Given the description of an element on the screen output the (x, y) to click on. 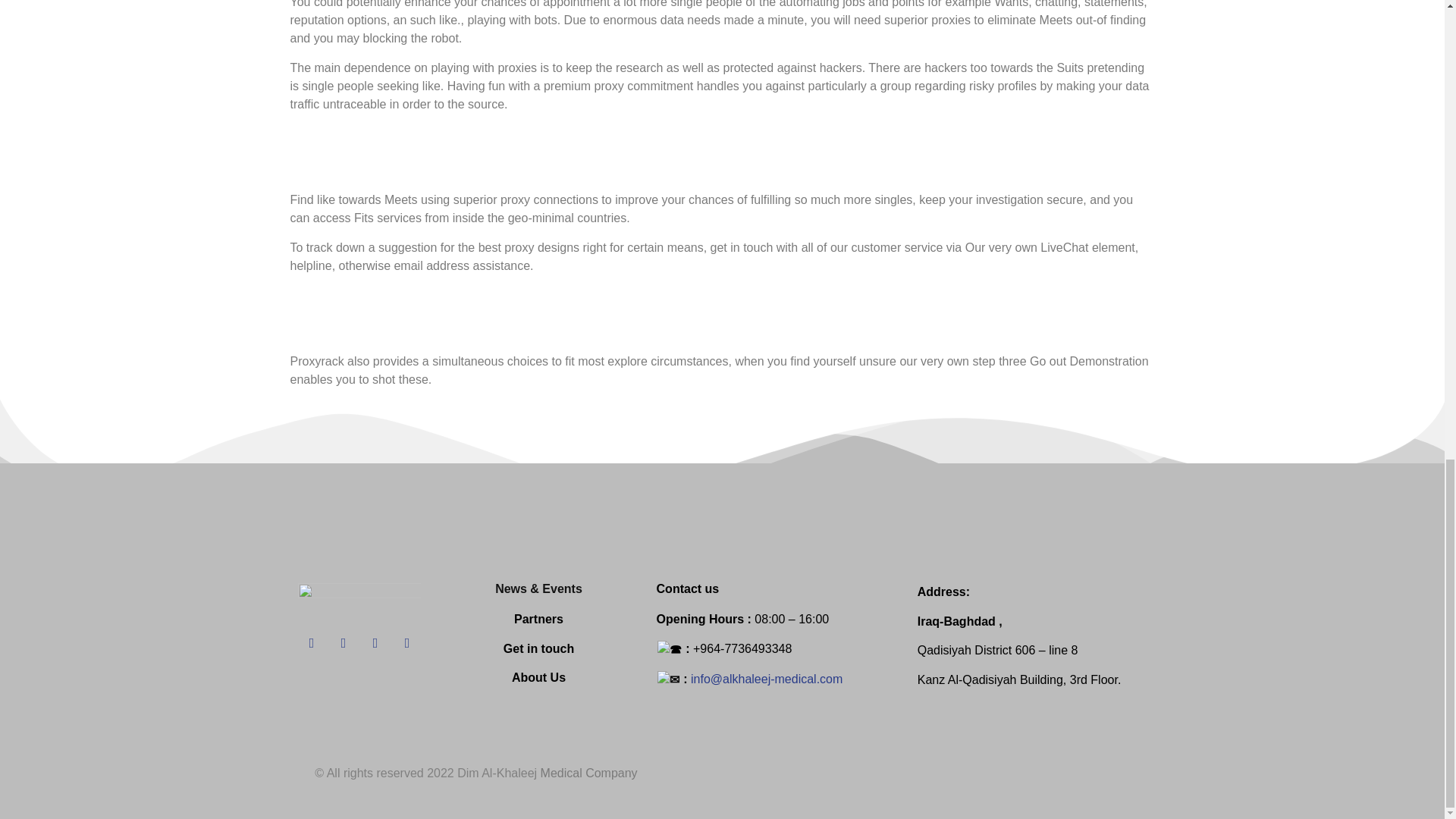
Get in touch (538, 648)
About Us (539, 676)
Partners (538, 618)
Kanz Al-Qadisiyah Building, 3rd Floor. (1019, 679)
